Given the description of an element on the screen output the (x, y) to click on. 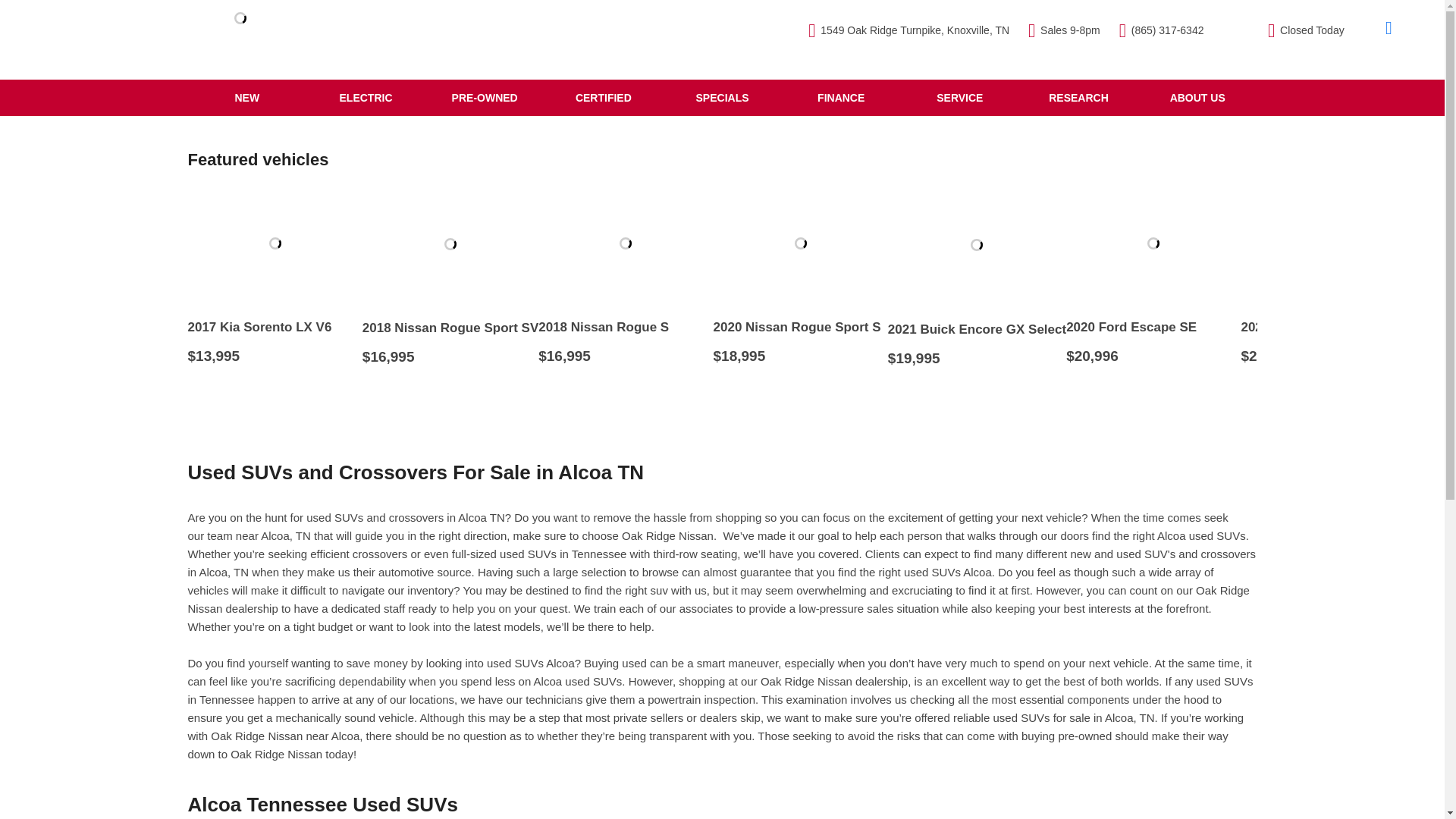
1549 Oak Ridge Turnpike, Knoxville, TN (908, 30)
Sales 9-8pm (1063, 30)
NEW (247, 97)
ELECTRIC (365, 97)
Closed Today (1305, 30)
